Given the description of an element on the screen output the (x, y) to click on. 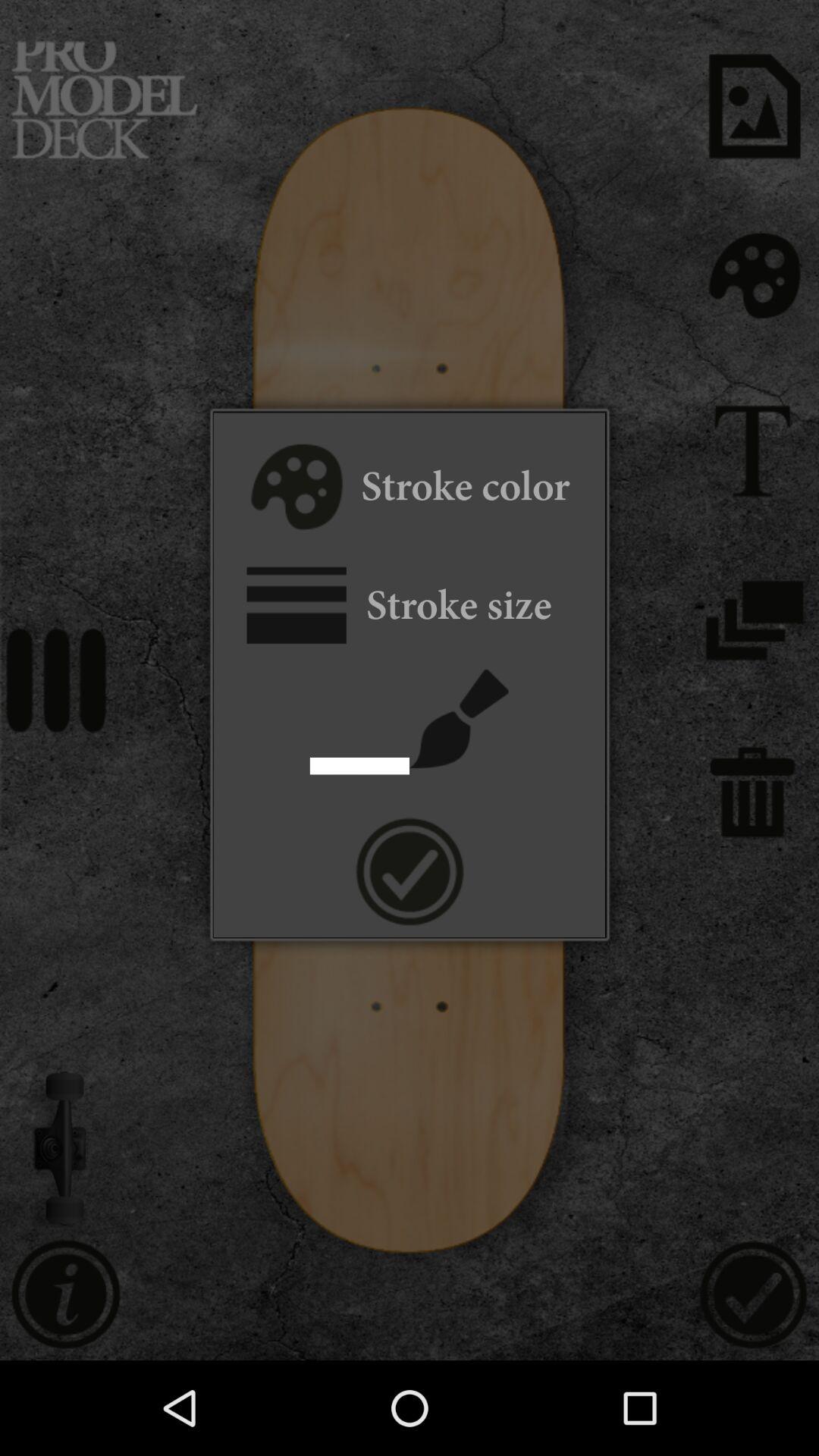
click the icon below the stroke size app (459, 718)
